Given the description of an element on the screen output the (x, y) to click on. 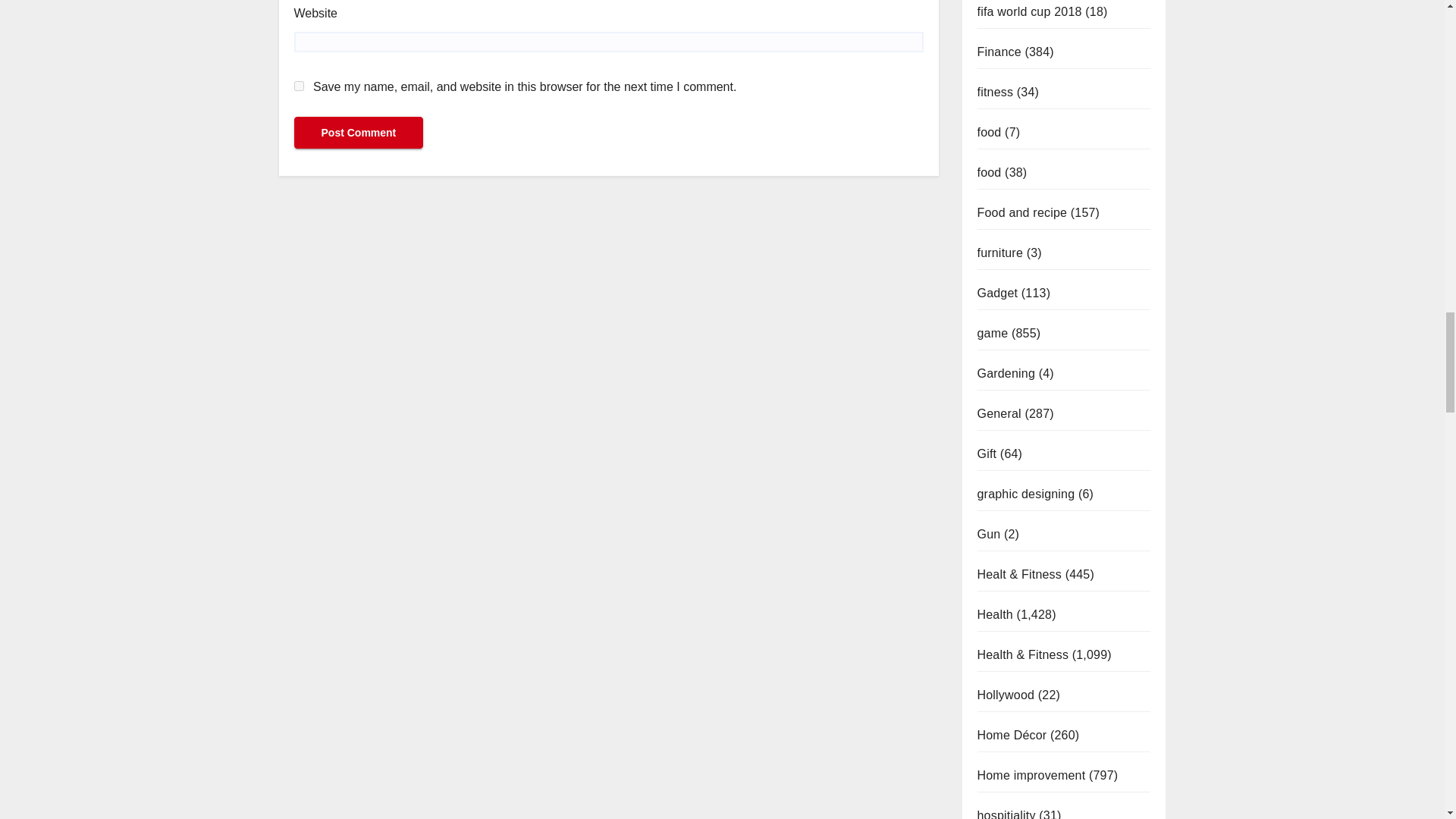
Post Comment (358, 132)
yes (299, 85)
